Given the description of an element on the screen output the (x, y) to click on. 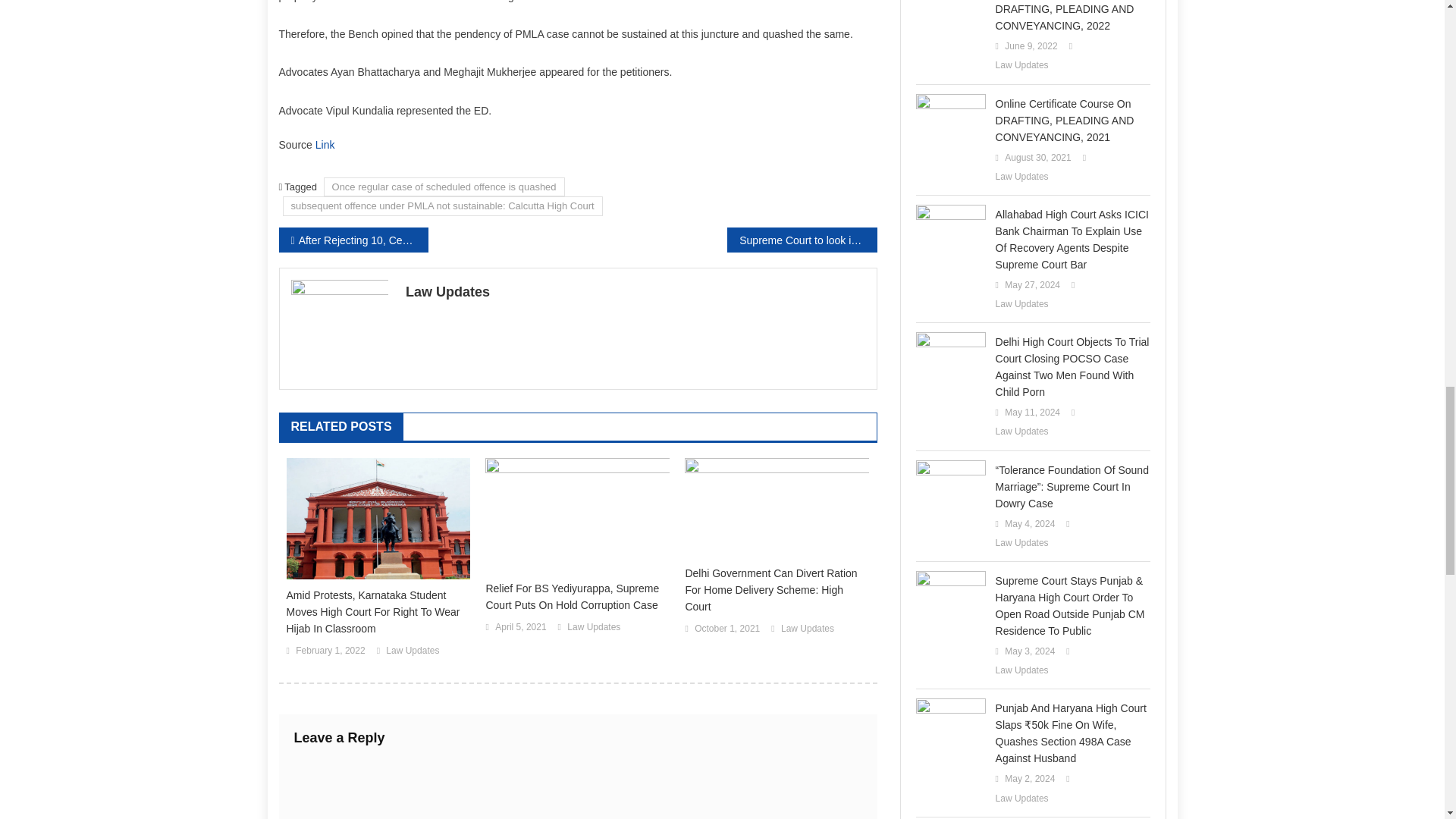
Law Updates (412, 651)
Law Updates (593, 627)
Link (324, 144)
February 1, 2022 (330, 651)
Comment Form (577, 787)
Once regular case of scheduled offence is quashed (443, 186)
Law Updates (635, 291)
